Given the description of an element on the screen output the (x, y) to click on. 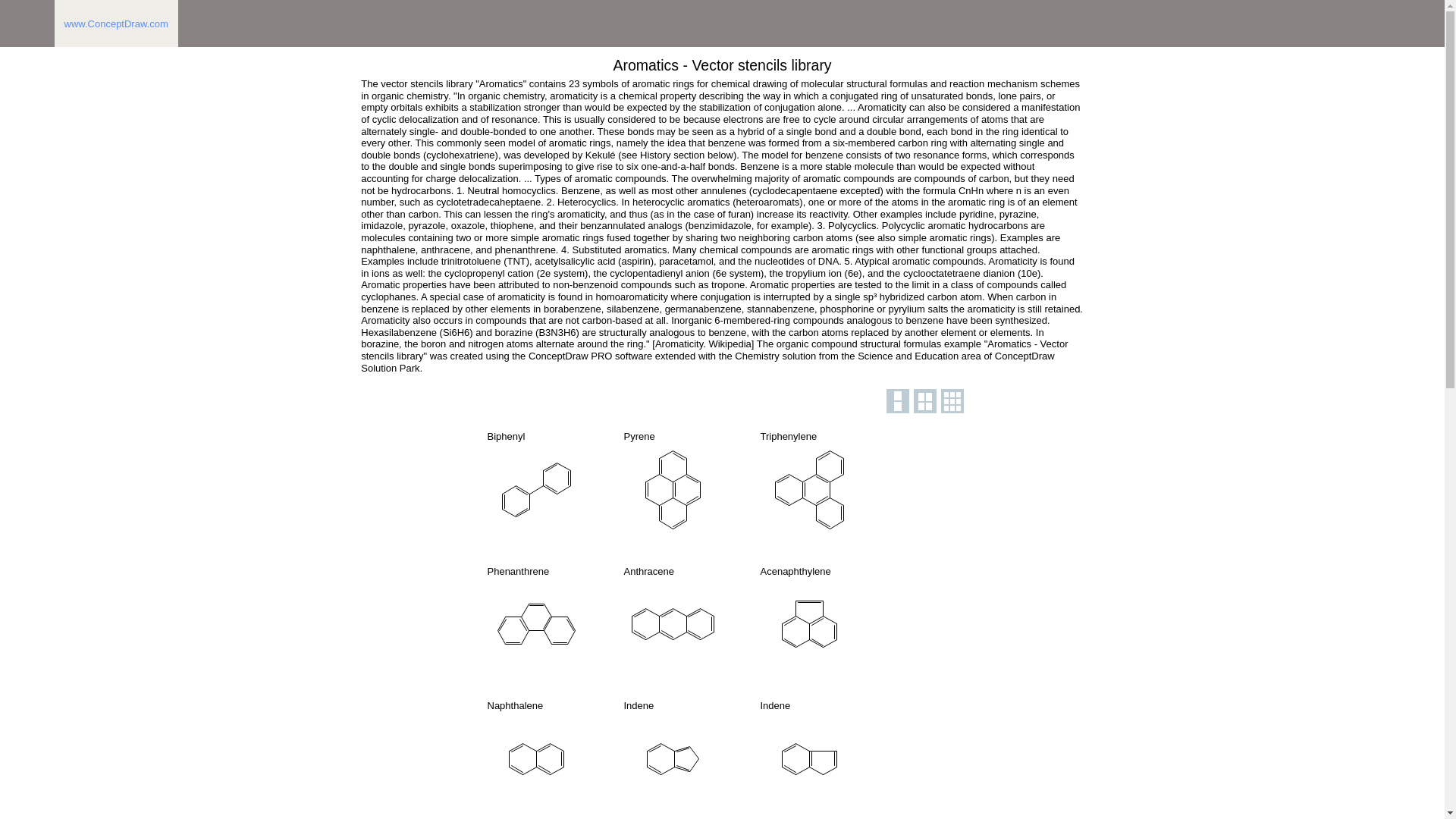
www.ConceptDraw.com (116, 23)
